Given the description of an element on the screen output the (x, y) to click on. 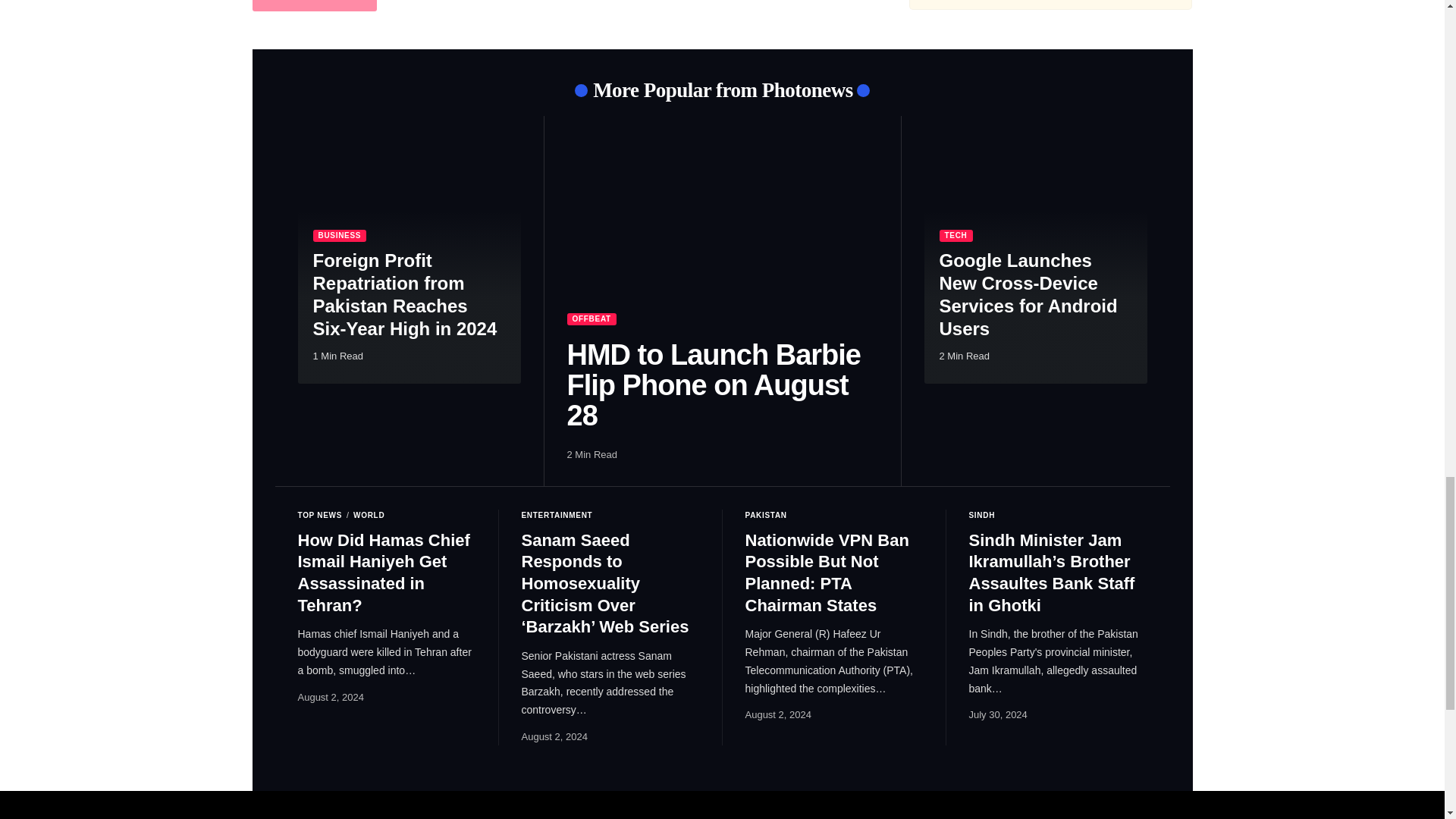
HMD to Launch Barbie Flip Phone on August 28 (722, 231)
Post Comment (314, 5)
Google Launches New Cross-Device Services for Android Users (1035, 261)
